Given the description of an element on the screen output the (x, y) to click on. 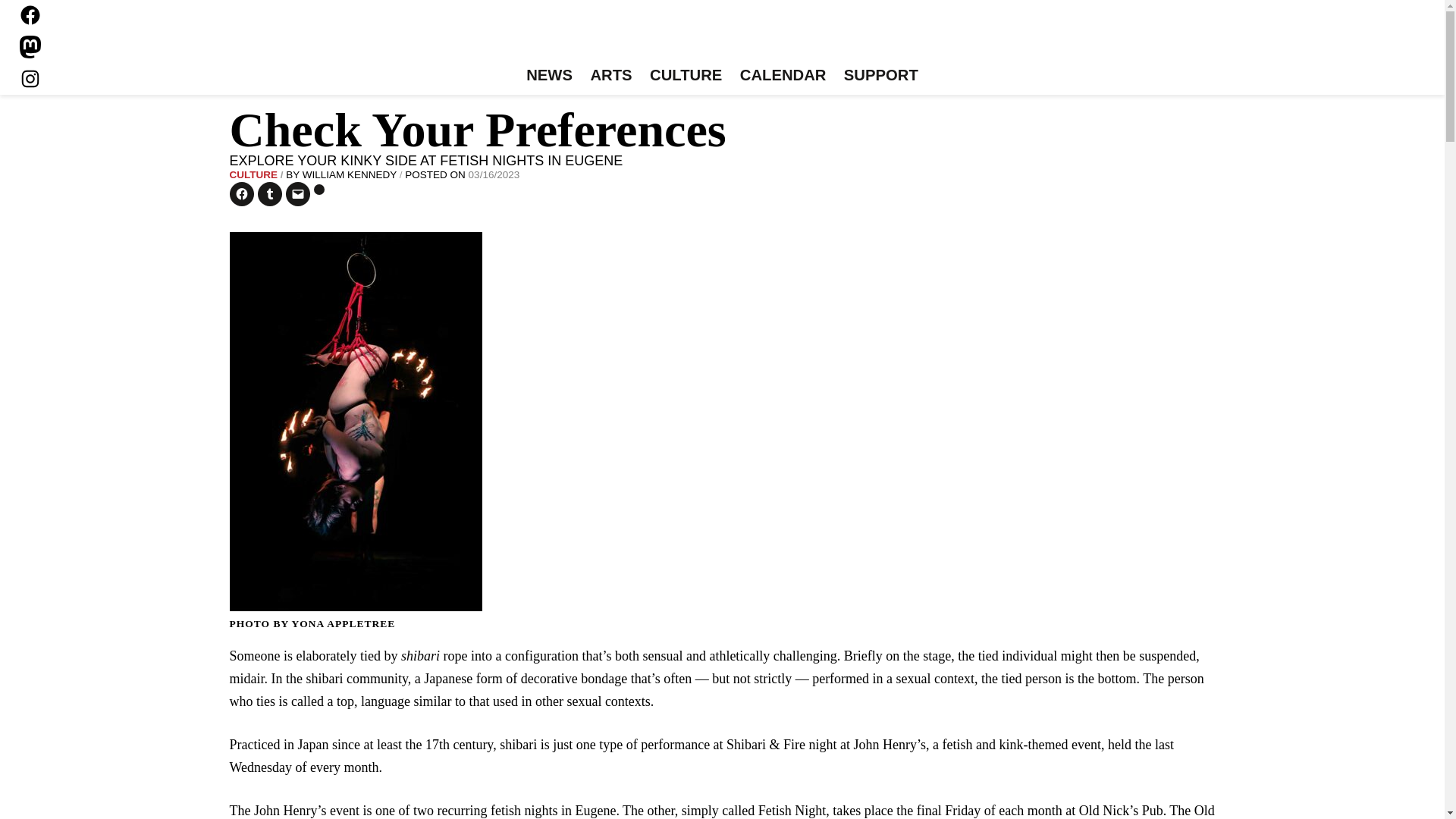
Click to share on Tumblr (269, 193)
Click to share on Facebook (240, 193)
SUPPORT (880, 75)
ARTS (611, 75)
Eugene Weekly (721, 37)
Instagram (30, 78)
Click to email a link to a friend (296, 193)
NEWS (548, 75)
Click to print (319, 189)
CALENDAR (782, 75)
Mastodon (30, 47)
CULTURE (685, 75)
Facebook (30, 15)
